Given the description of an element on the screen output the (x, y) to click on. 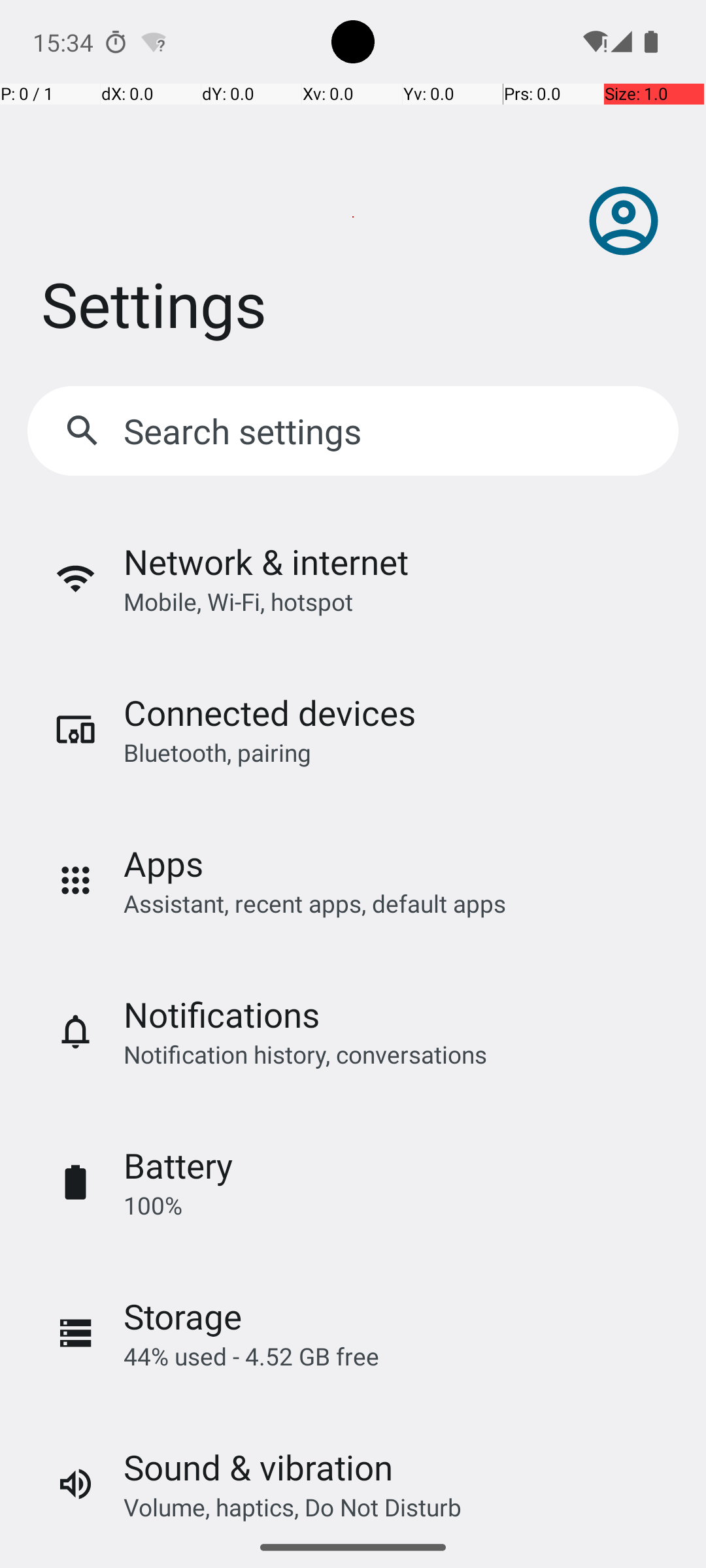
Profile picture, double tap to open Google Account Element type: android.widget.ImageView (623, 220)
Search settings Element type: android.widget.TextView (245, 430)
Network & internet Element type: android.widget.TextView (265, 561)
Mobile, Wi‑Fi, hotspot Element type: android.widget.TextView (238, 601)
Connected devices Element type: android.widget.TextView (269, 712)
Bluetooth, pairing Element type: android.widget.TextView (217, 751)
Apps Element type: android.widget.TextView (163, 863)
Assistant, recent apps, default apps Element type: android.widget.TextView (314, 902)
Notifications Element type: android.widget.TextView (221, 1014)
Notification history, conversations Element type: android.widget.TextView (305, 1053)
Battery Element type: android.widget.TextView (178, 1165)
100% Element type: android.widget.TextView (152, 1204)
Storage Element type: android.widget.TextView (182, 1315)
44% used - 4.52 GB free Element type: android.widget.TextView (251, 1355)
Sound & vibration Element type: android.widget.TextView (257, 1466)
Volume, haptics, Do Not Disturb Element type: android.widget.TextView (292, 1506)
